Given the description of an element on the screen output the (x, y) to click on. 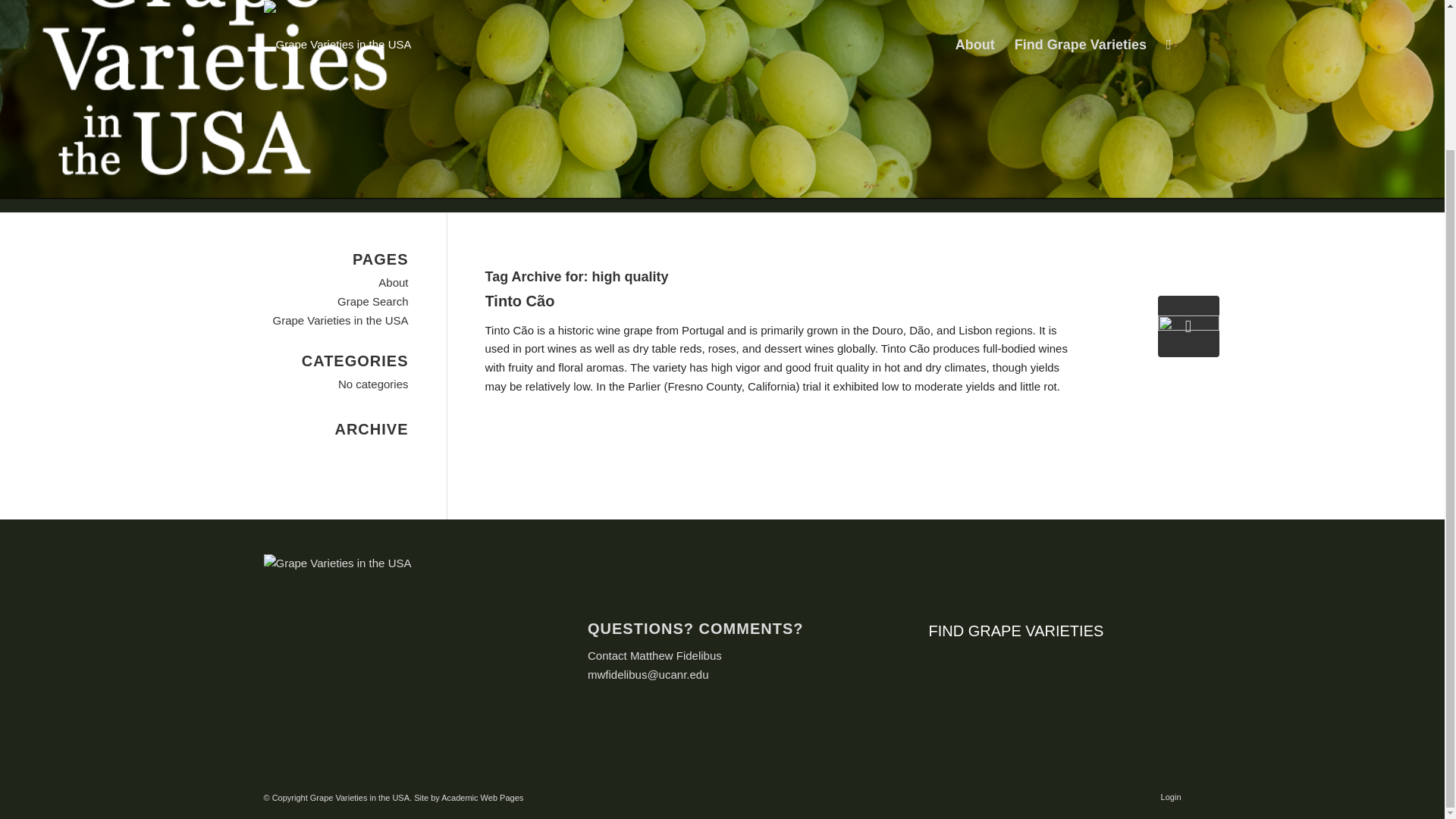
Grape Varieties in the USA (341, 319)
Grape Search (372, 300)
About (392, 282)
Login (1170, 796)
FIND GRAPE VARIETIES (1016, 631)
Academic Web Pages (481, 797)
